Given the description of an element on the screen output the (x, y) to click on. 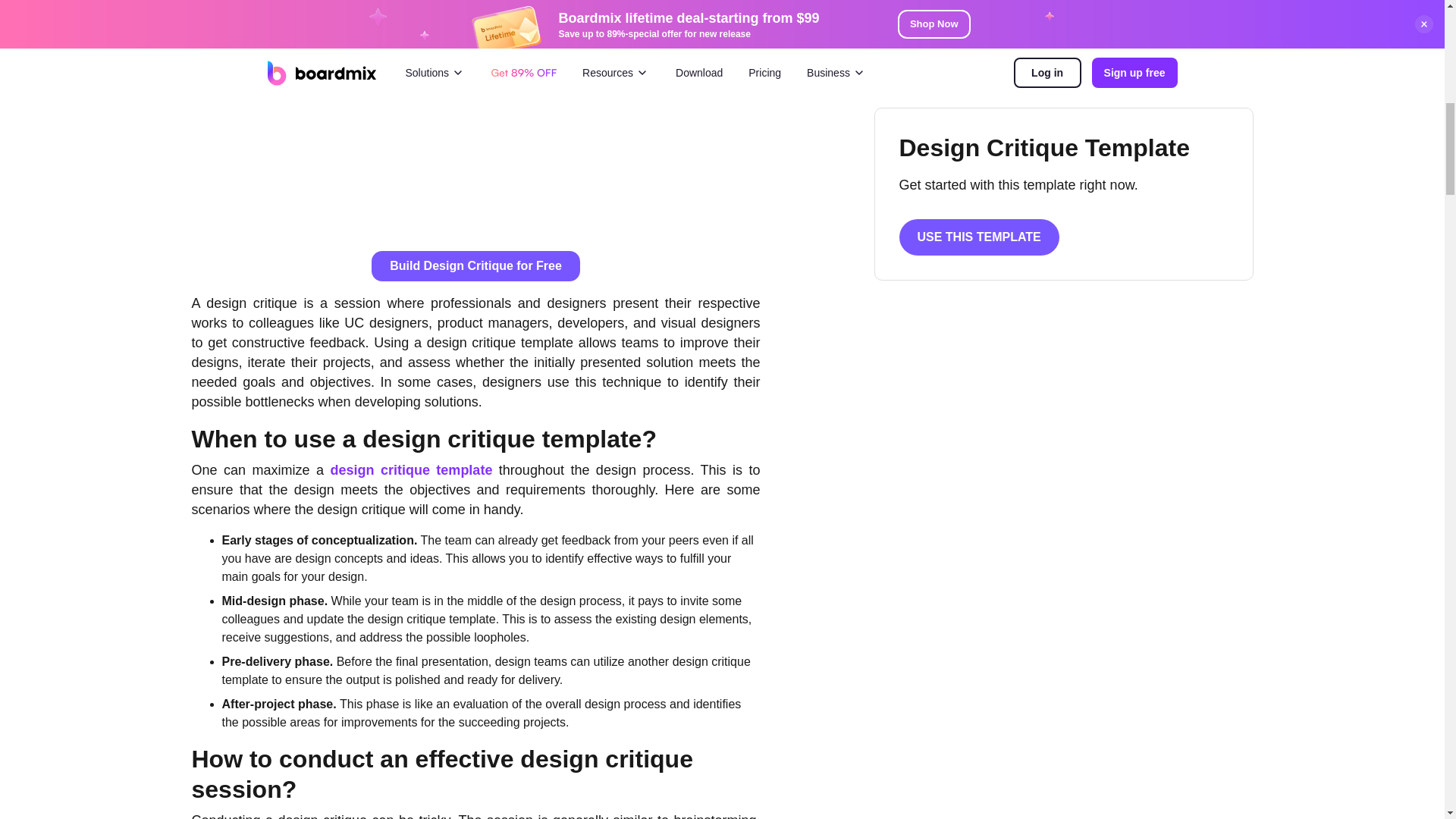
Build Design Critique for Free (475, 265)
design critique template (411, 469)
